Given the description of an element on the screen output the (x, y) to click on. 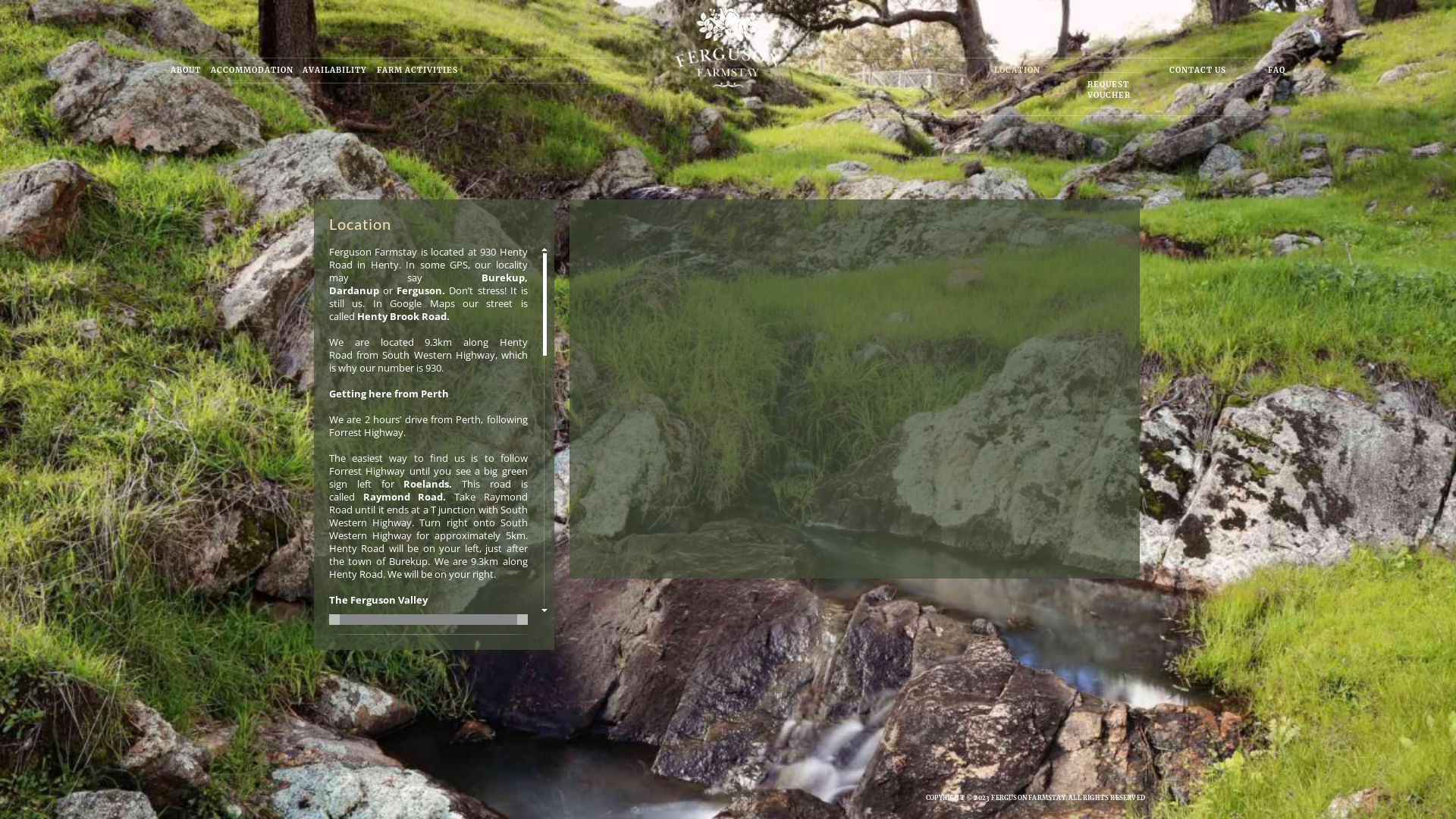
Previous Element type: text (28, 403)
CONTACT US Element type: text (1197, 70)
AVAILABILITY Element type: text (334, 70)
FERGUSON FARMSTAY Element type: text (1027, 797)
Next Element type: text (1416, 403)
ABOUT Element type: text (185, 70)
LOCATION Element type: text (1017, 70)
FARM ACTIVITIES Element type: text (417, 70)
ACCOMMODATION Element type: text (251, 70)
FAQ Element type: text (1276, 70)
REQUEST VOUCHER Element type: text (1115, 89)
